Given the description of an element on the screen output the (x, y) to click on. 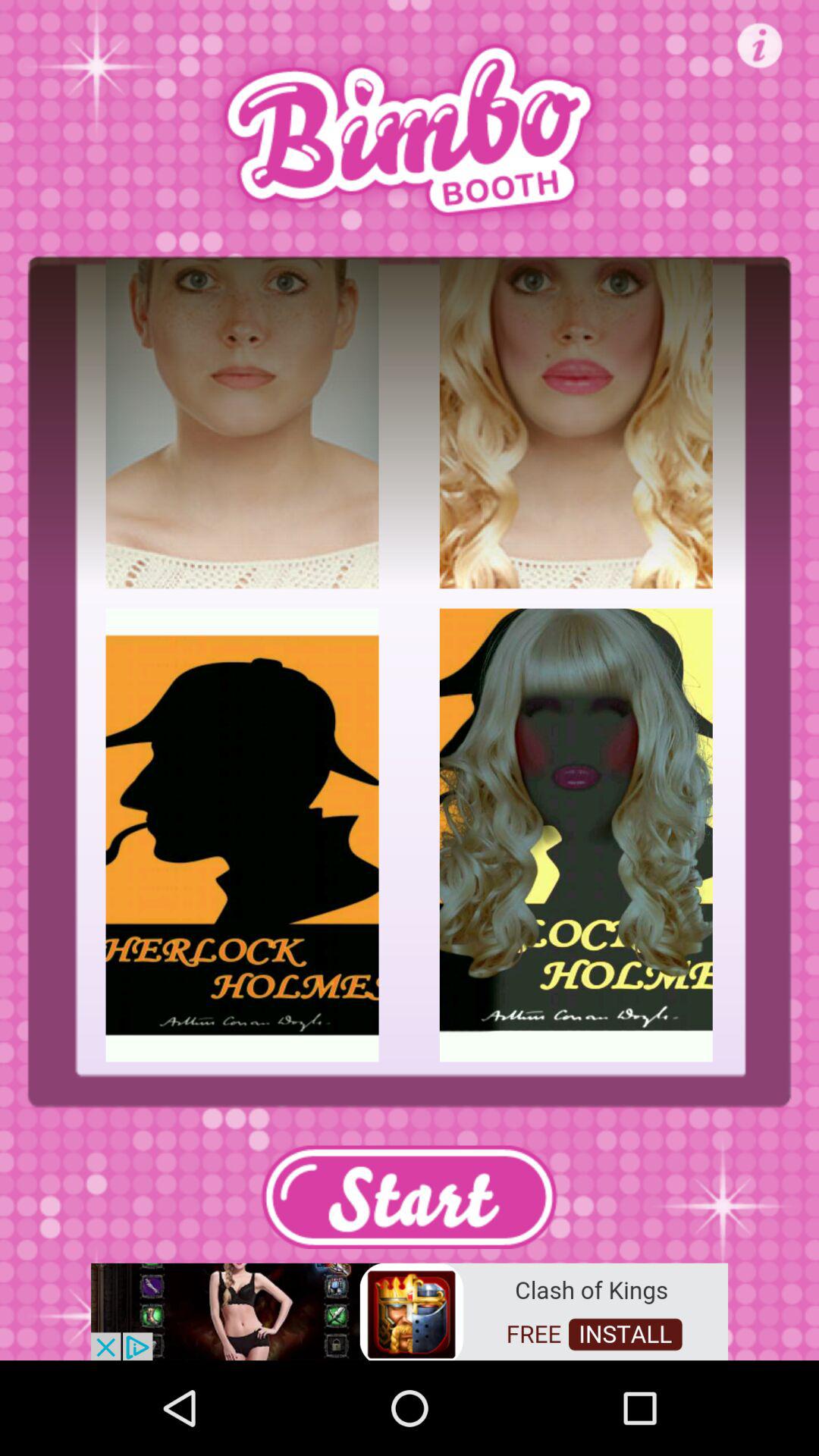
click to view advertisement (409, 1310)
